Given the description of an element on the screen output the (x, y) to click on. 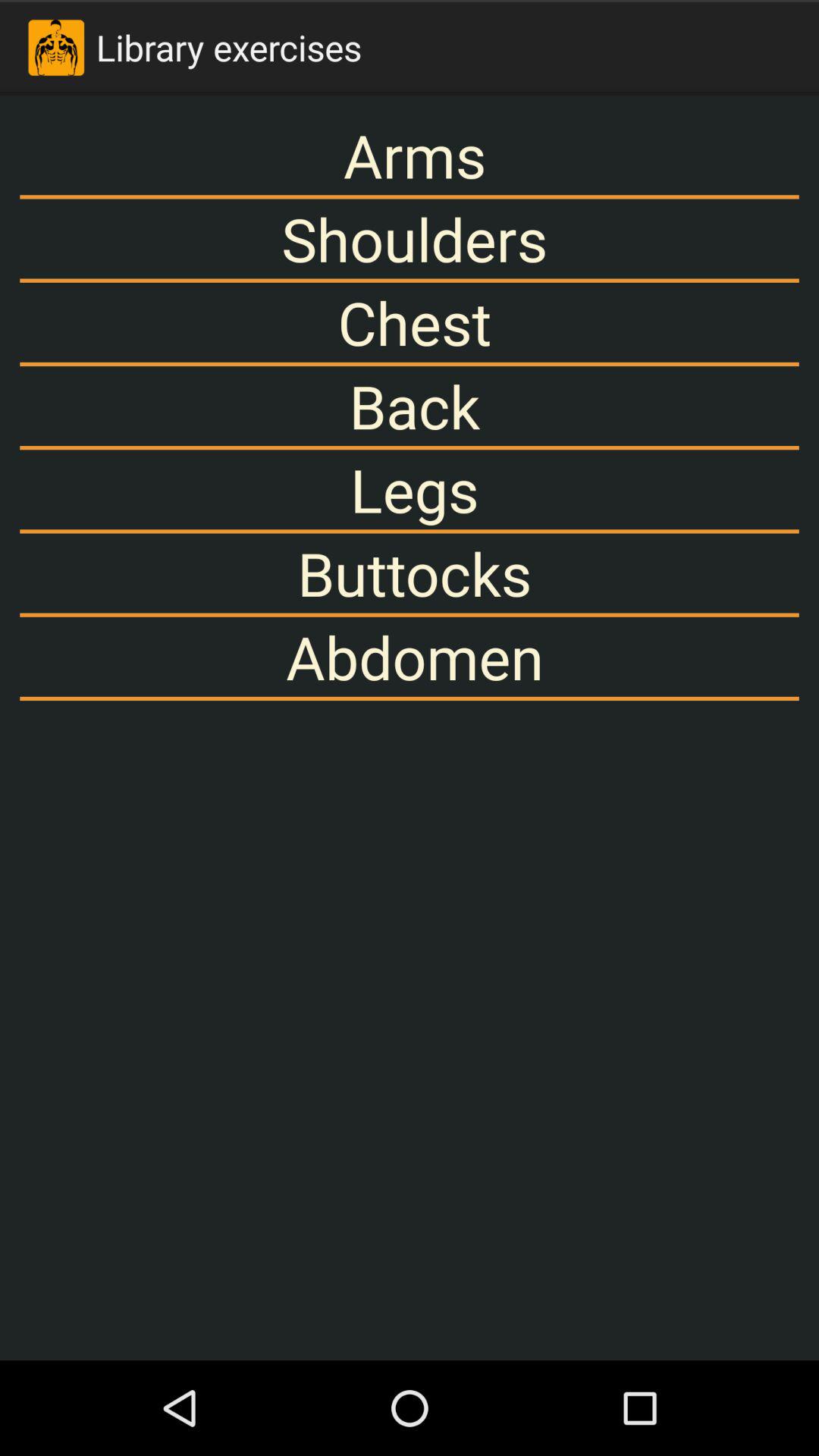
turn on the shoulders icon (409, 238)
